Given the description of an element on the screen output the (x, y) to click on. 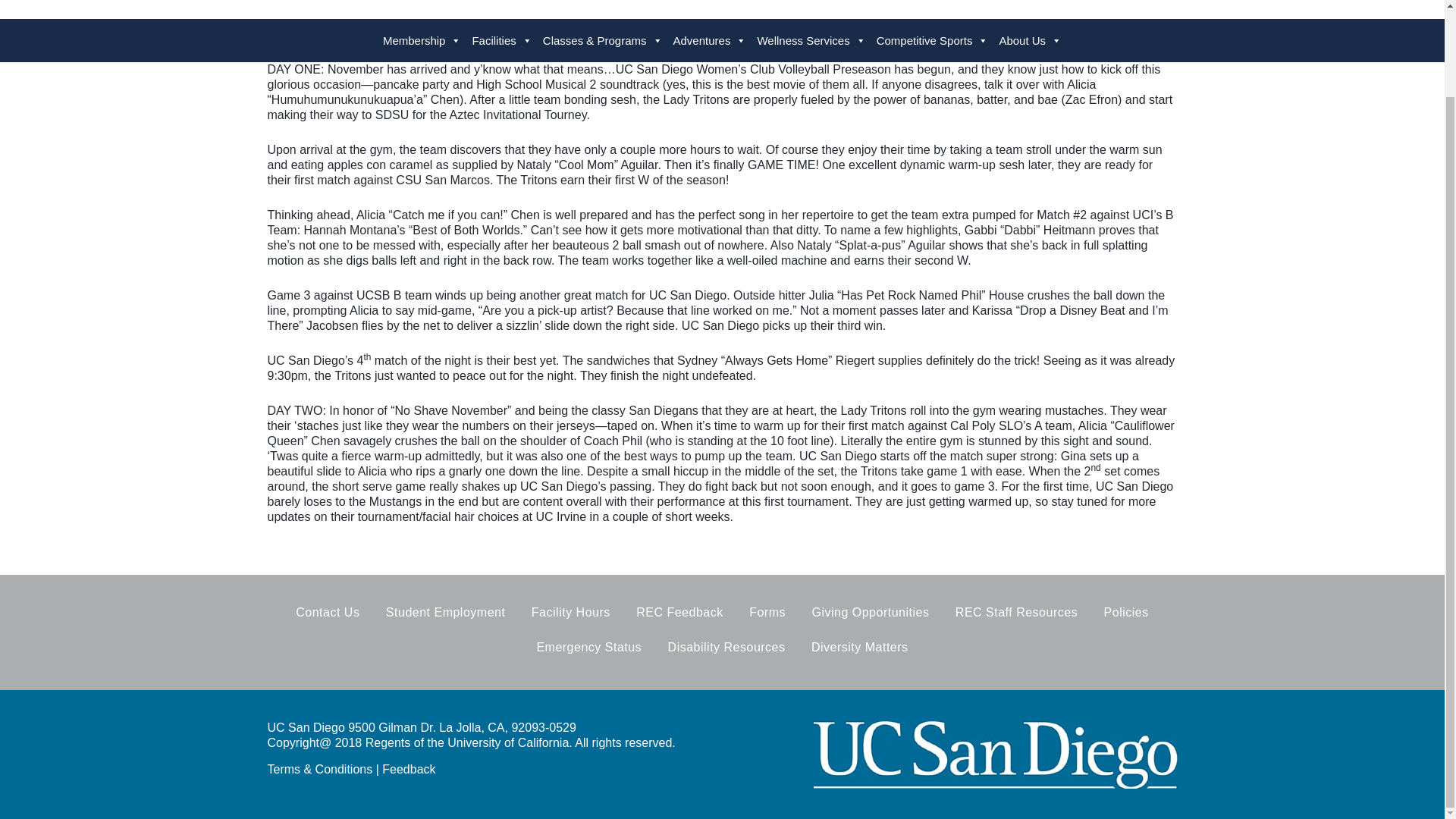
Competitive Sports (932, 40)
Adventures (710, 40)
Wellness Services (810, 40)
Membership (422, 40)
Facilities (501, 40)
